Given the description of an element on the screen output the (x, y) to click on. 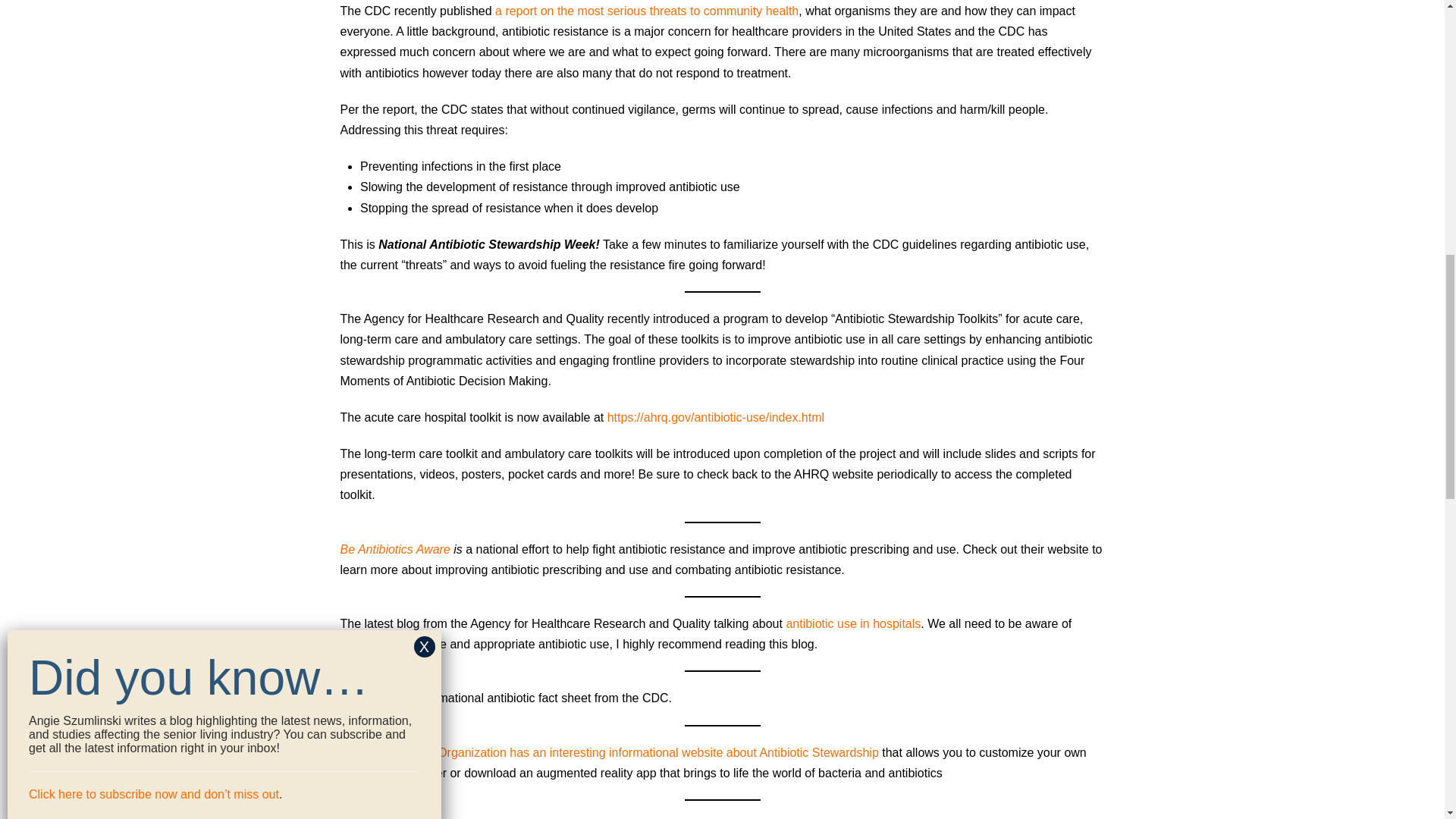
antibiotic use in hospitals (853, 623)
a report on the most serious threats to community health (646, 10)
Be Antibiotics Aware (394, 549)
